Given the description of an element on the screen output the (x, y) to click on. 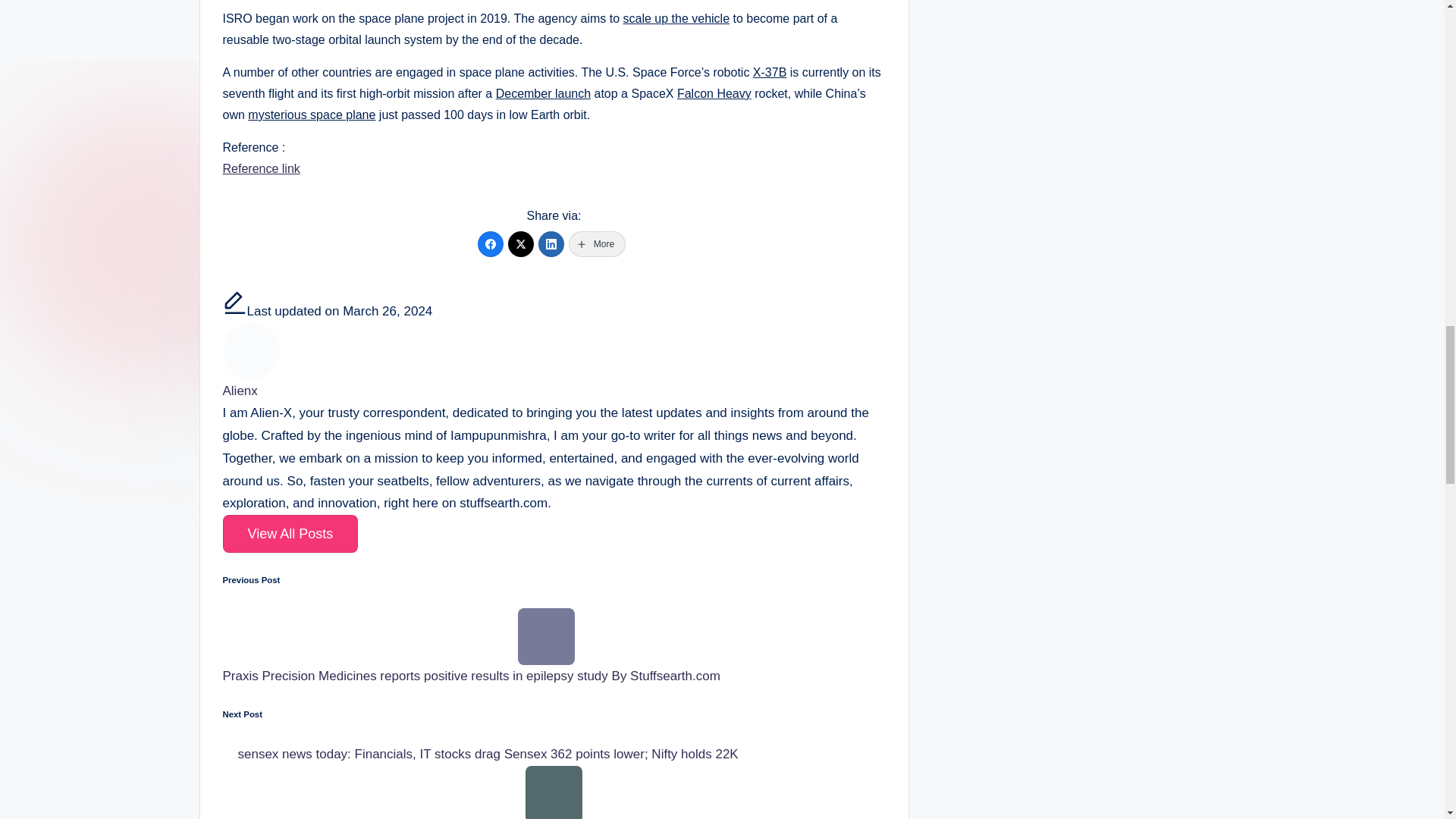
Reference link (260, 168)
